Given the description of an element on the screen output the (x, y) to click on. 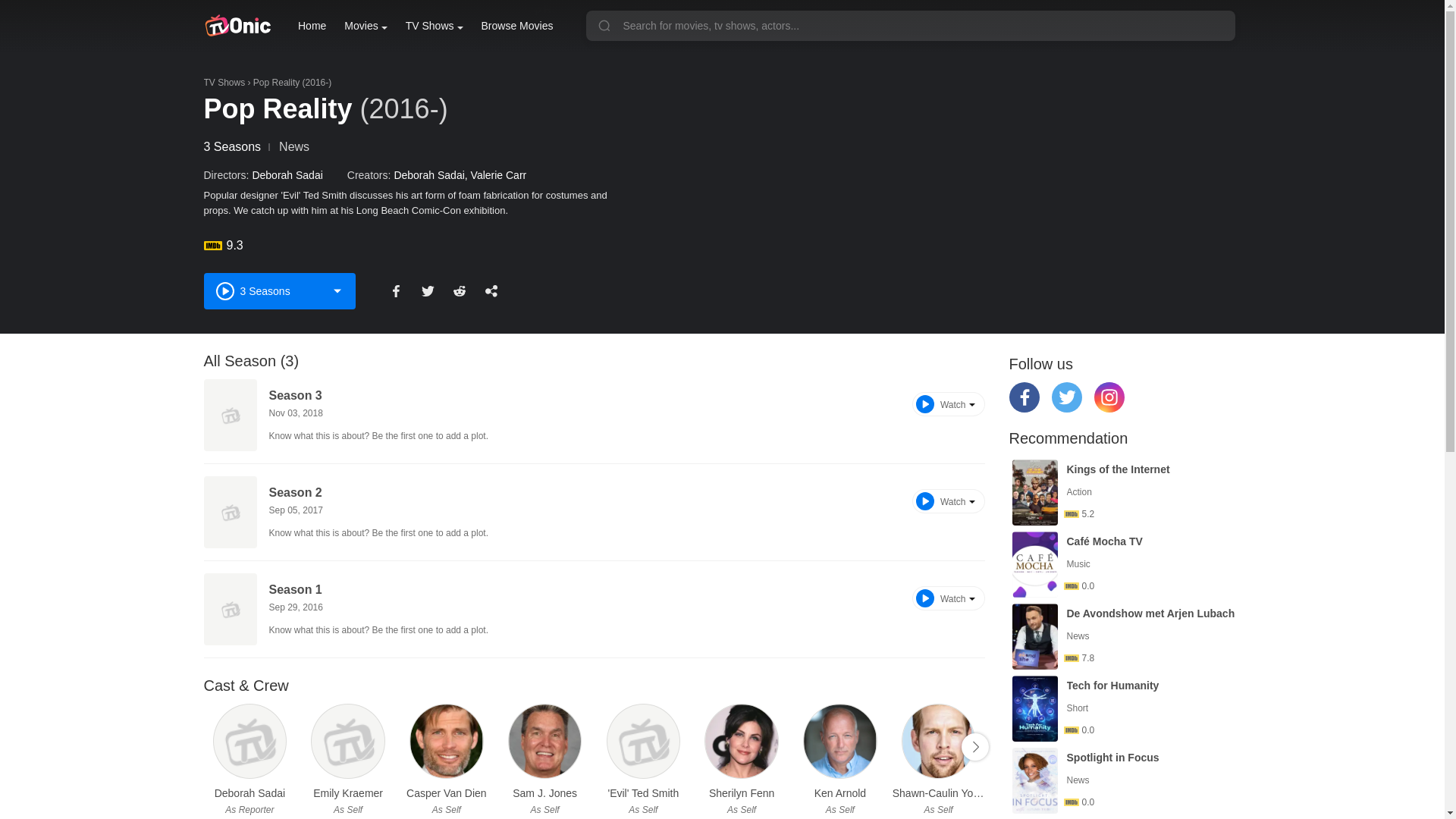
Home (312, 25)
9.3 (418, 245)
Movies (365, 25)
Movies (365, 25)
TVOnic (236, 25)
TV Shows (434, 25)
